Given the description of an element on the screen output the (x, y) to click on. 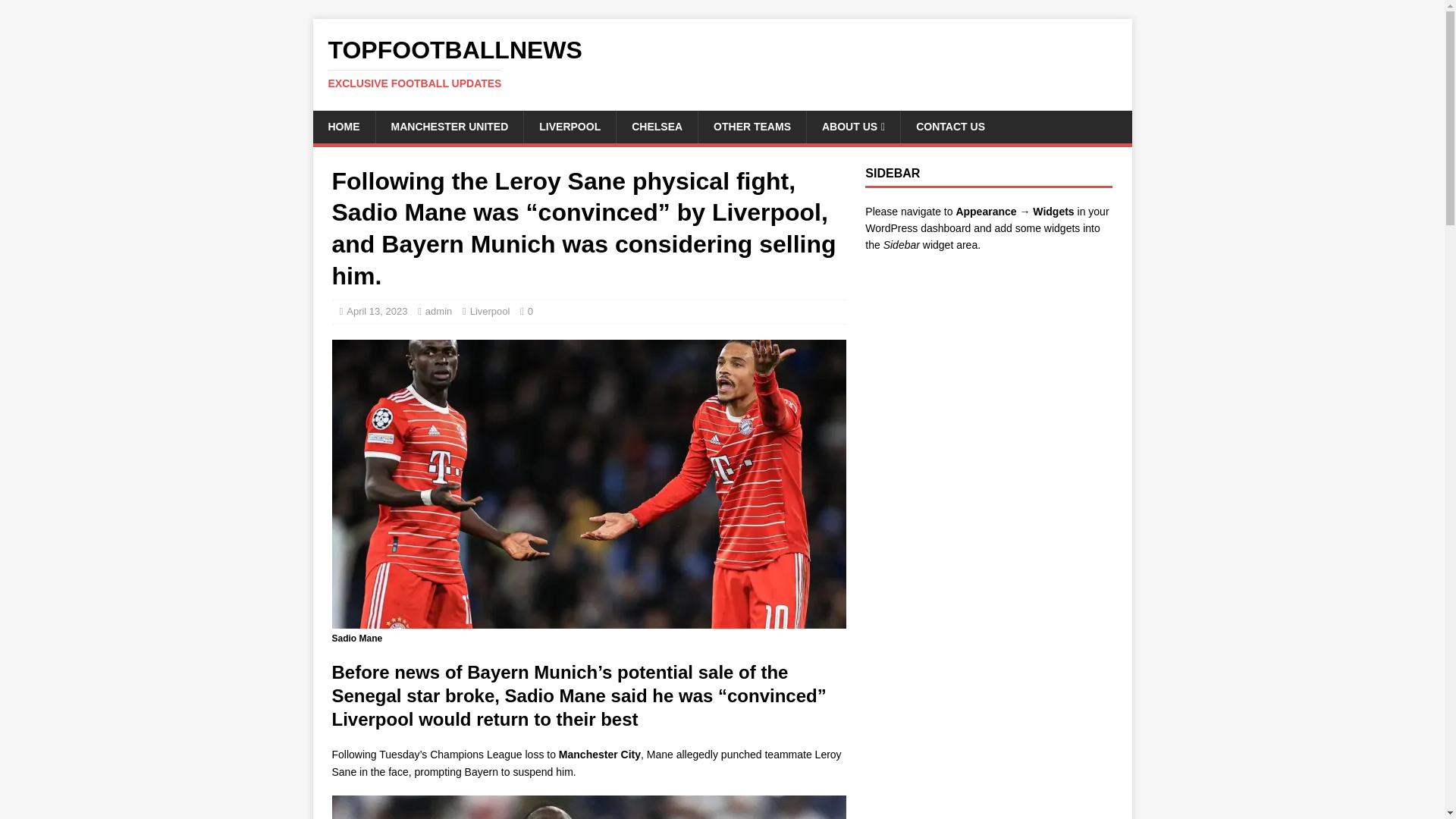
topfootballnews (721, 63)
ABOUT US (852, 126)
HOME (343, 126)
CHELSEA (656, 126)
MANCHESTER UNITED (448, 126)
LIVERPOOL (568, 126)
admin (438, 310)
OTHER TEAMS (751, 126)
CONTACT US (949, 126)
Liverpool (490, 310)
